Given the description of an element on the screen output the (x, y) to click on. 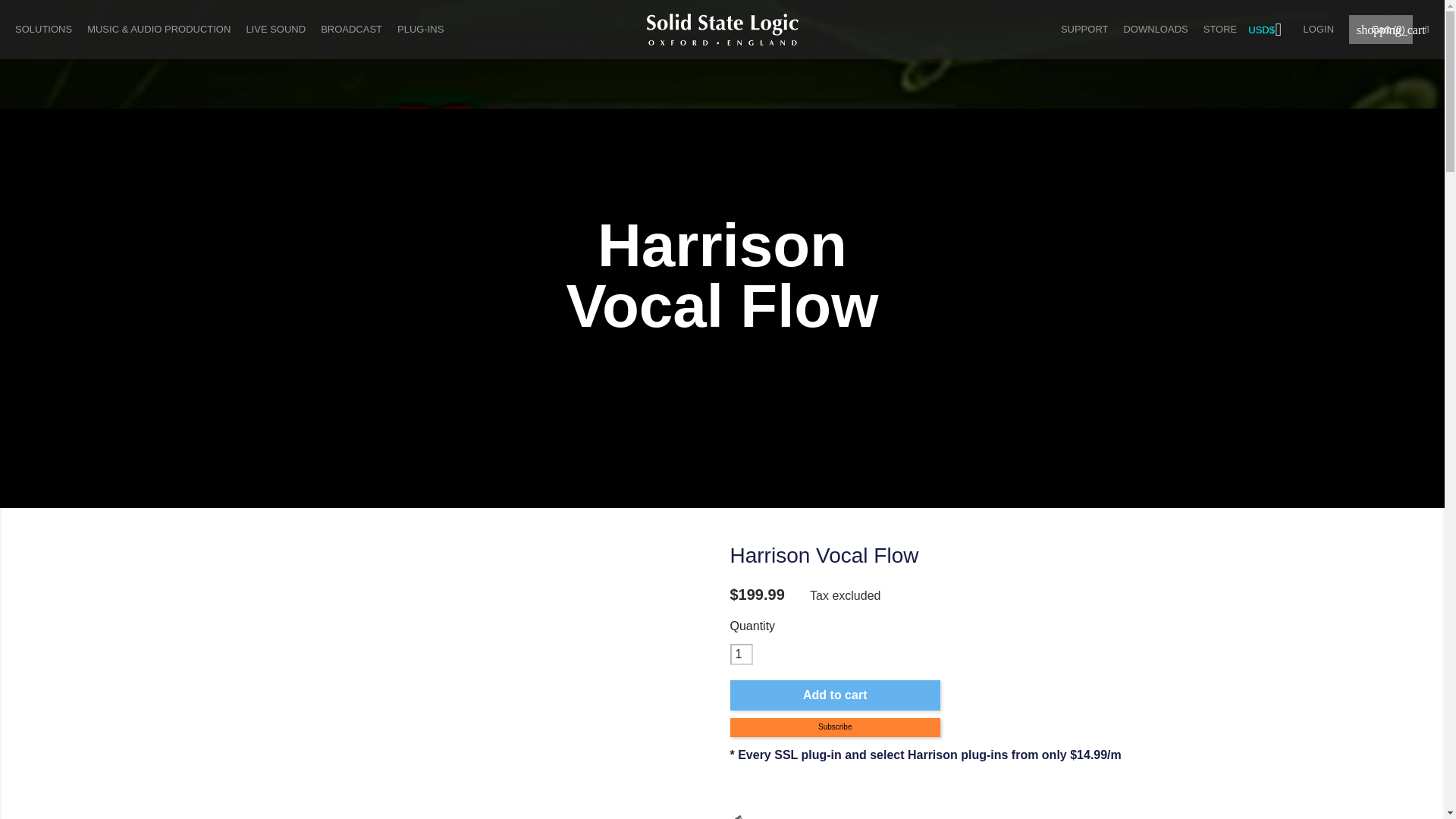
1 (740, 654)
SOLUTIONS (43, 29)
